Given the description of an element on the screen output the (x, y) to click on. 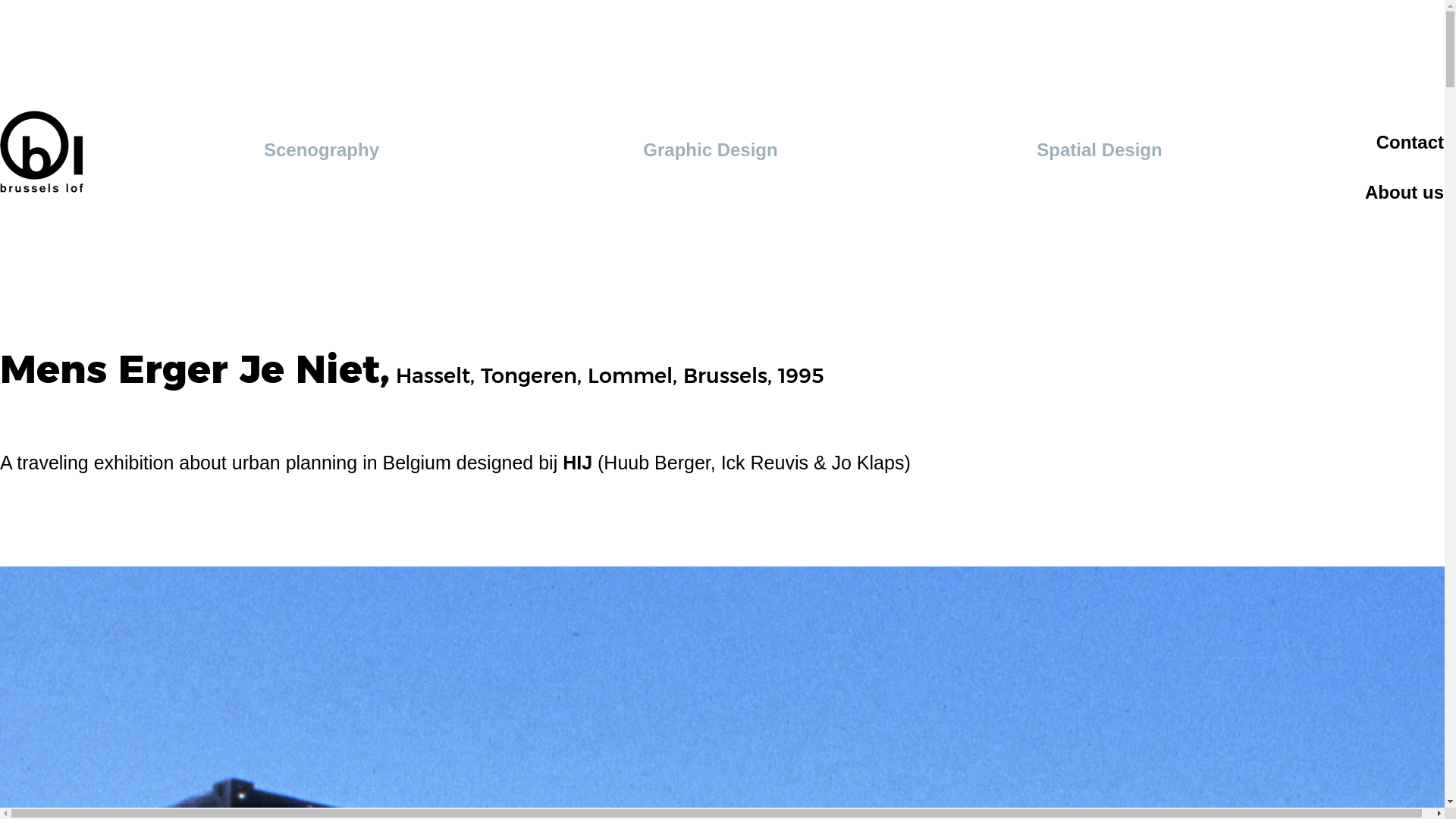
About us Element type: text (1404, 192)
Contact Element type: text (1409, 141)
